Given the description of an element on the screen output the (x, y) to click on. 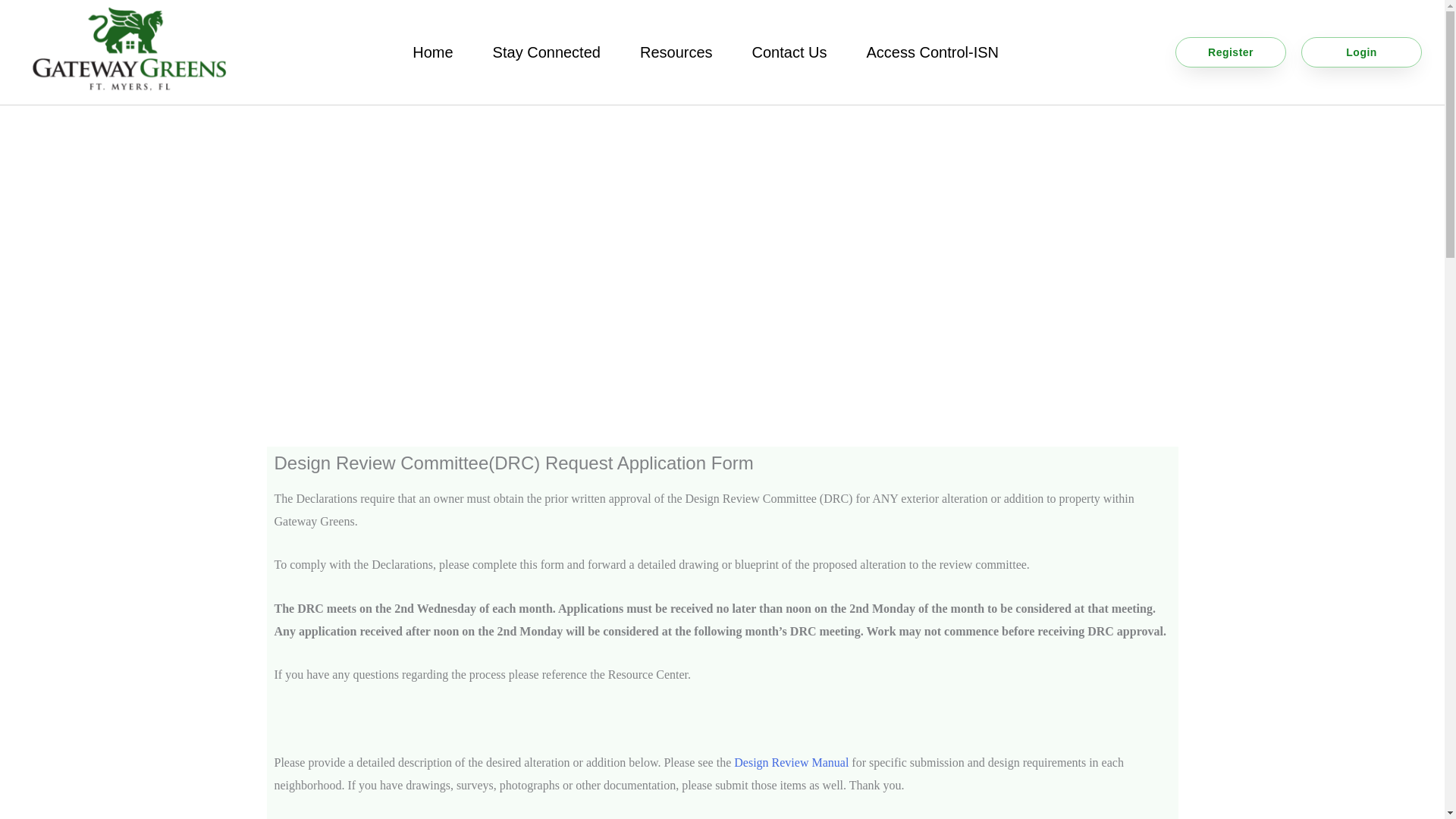
Resources (676, 52)
Stay Connected (546, 52)
Home (432, 52)
